Given the description of an element on the screen output the (x, y) to click on. 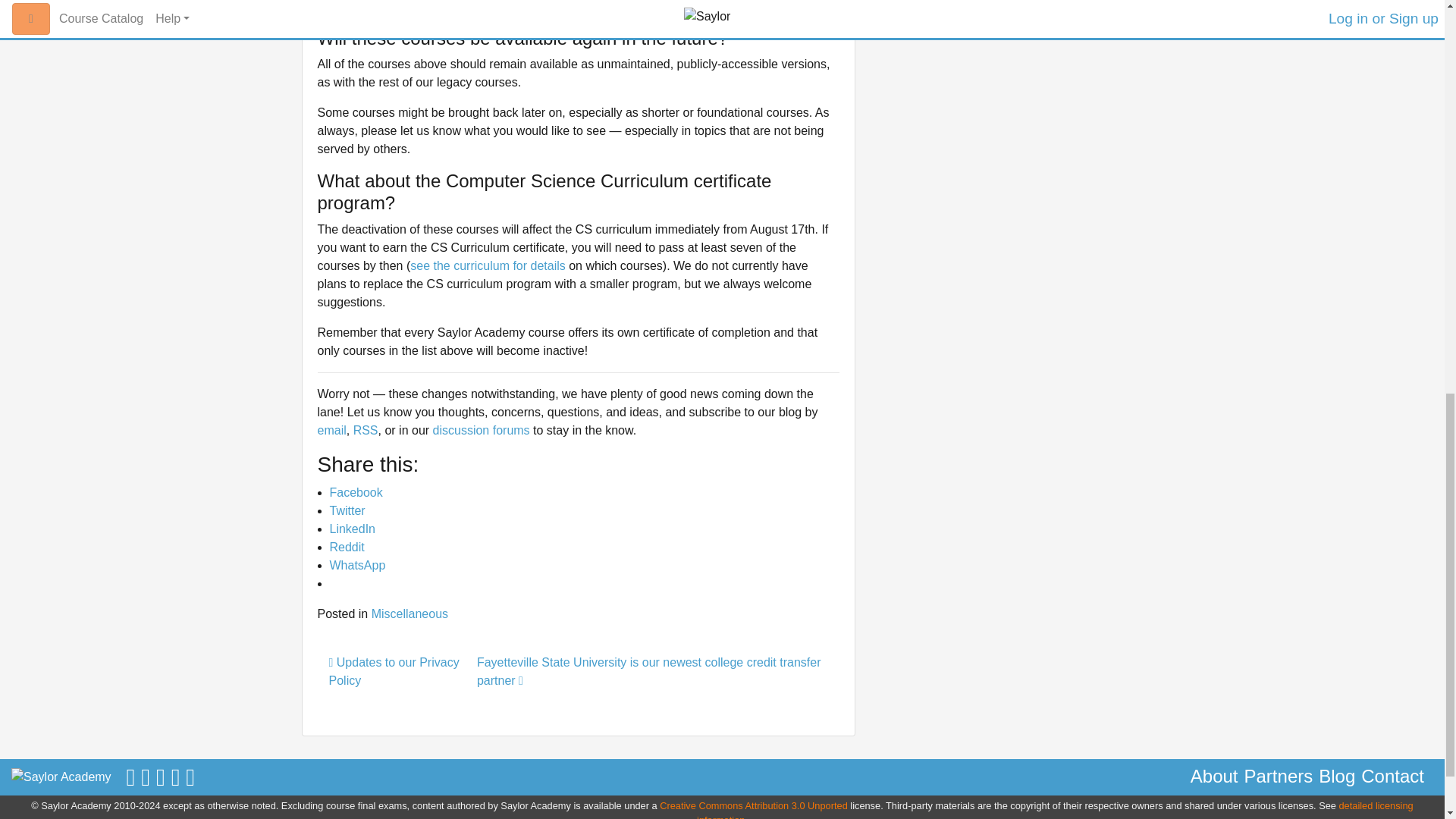
Click to share on Reddit (346, 546)
Click to share on Twitter (347, 510)
Facebook (355, 492)
LinkedIn (352, 528)
discussion forums (480, 430)
 Updates to our Privacy Policy (394, 671)
WhatsApp (357, 564)
Saylor Academy (61, 777)
Blog (1337, 776)
Contact (1392, 776)
email (331, 430)
Click to share on Facebook (355, 492)
Click to share on LinkedIn (352, 528)
Miscellaneous (409, 613)
Reddit (346, 546)
